Given the description of an element on the screen output the (x, y) to click on. 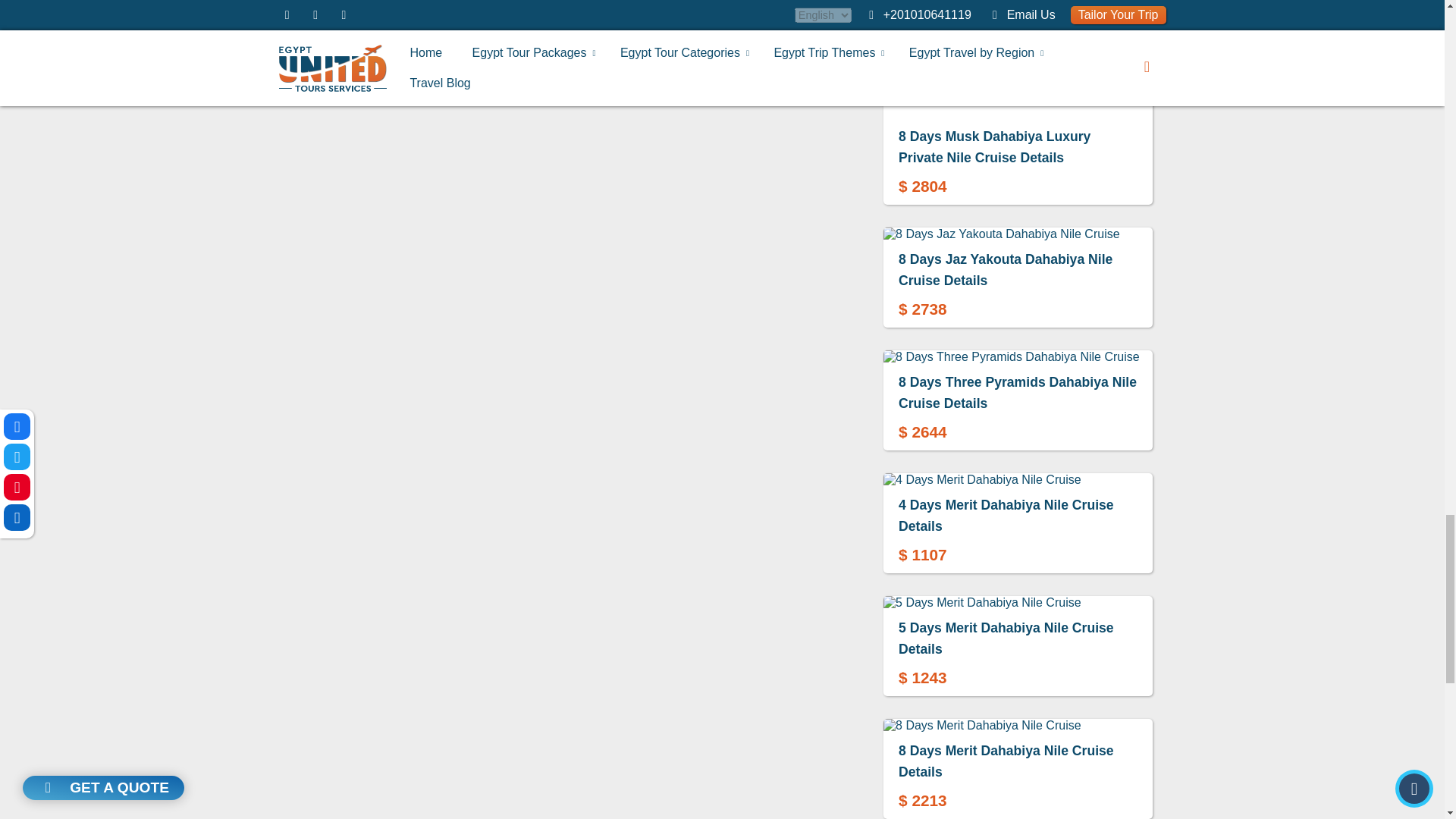
Nile Cruise Ship Tag (609, 78)
Nile Cruise and Stay 2022 Tag (590, 45)
Nile Cruise Tag (467, 45)
Nile Cruise Booking Tag (736, 45)
Nile Cruise Egypt Tag (349, 78)
nile cruise luxor aswan Tag (481, 78)
